Given the description of an element on the screen output the (x, y) to click on. 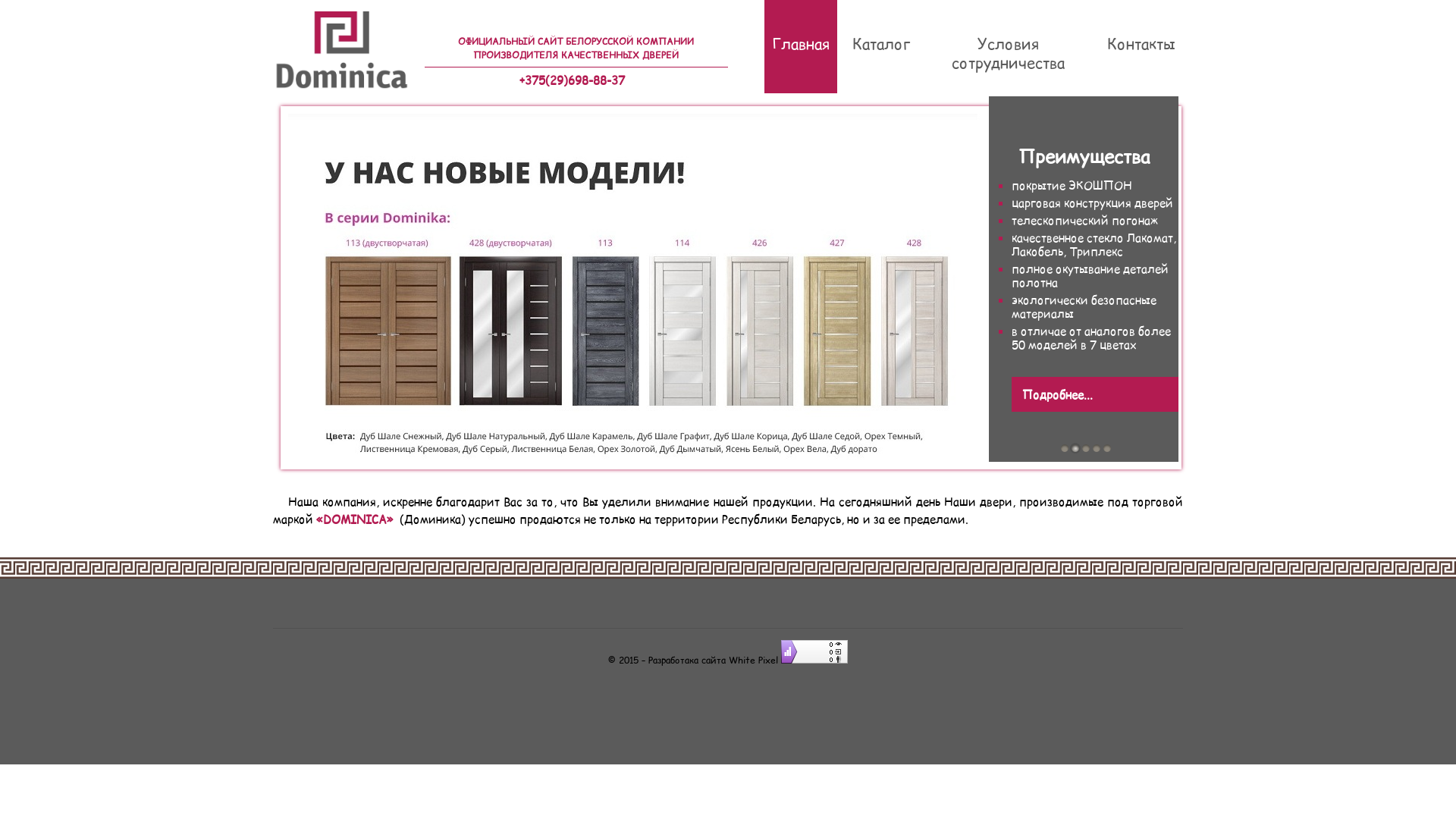
+375(29)698-88-37 Element type: text (571, 79)
2 Element type: text (1075, 447)
4 Element type: text (1096, 447)
1 Element type: text (1064, 447)
3 Element type: text (1085, 447)
5 Element type: text (1106, 447)
